Given the description of an element on the screen output the (x, y) to click on. 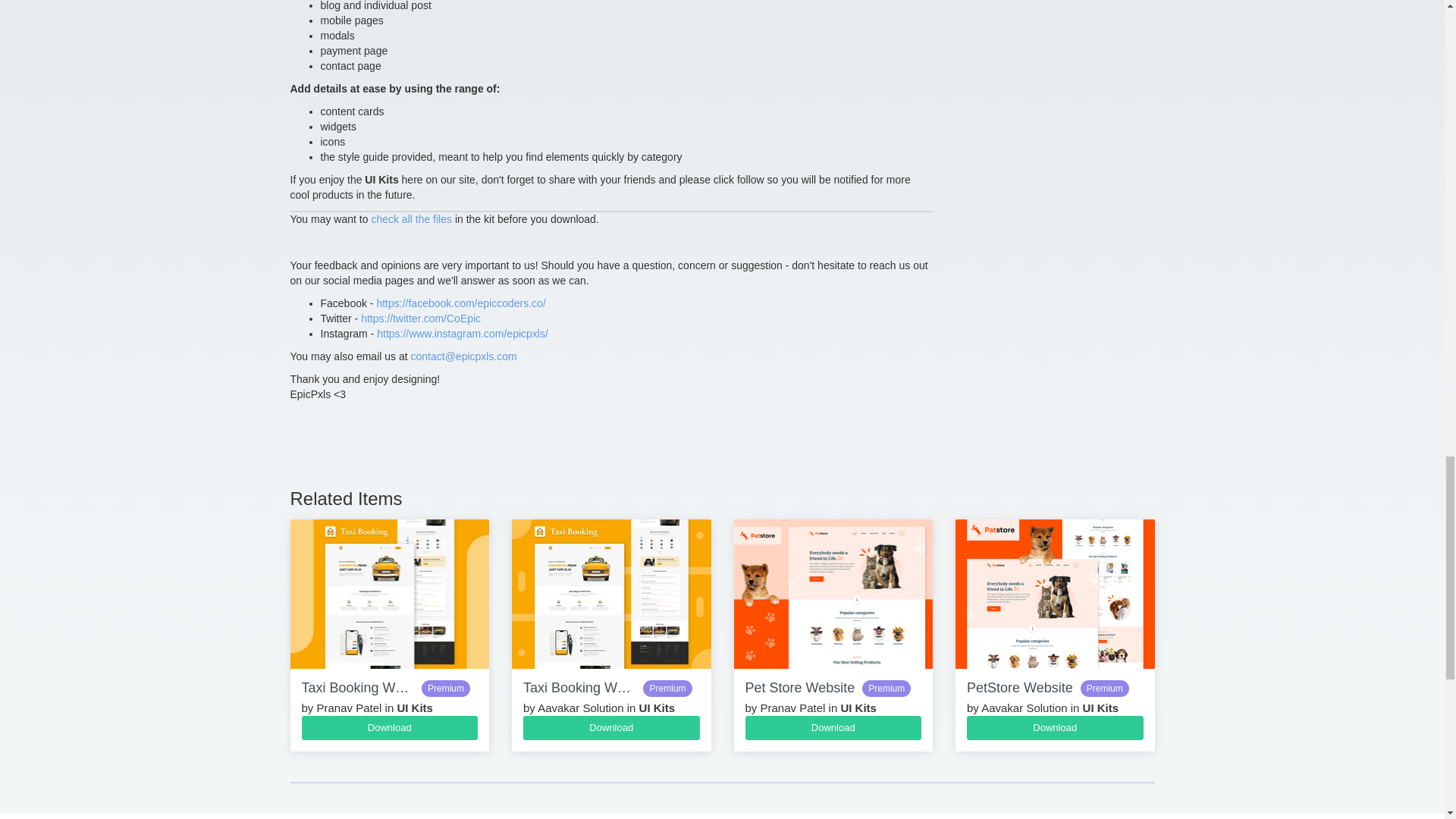
check all the files (411, 218)
check all the files - all files (411, 218)
